Given the description of an element on the screen output the (x, y) to click on. 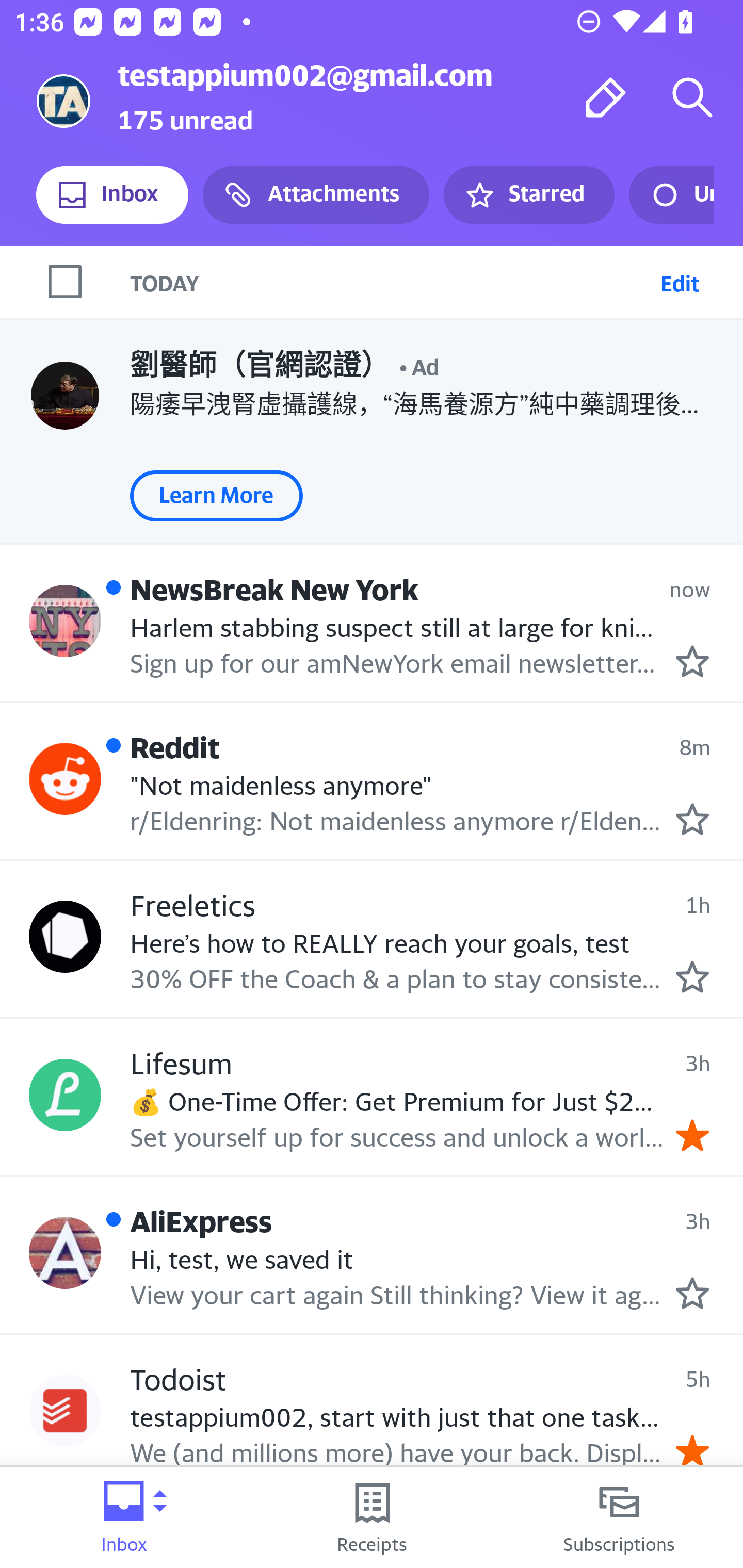
Compose (605, 97)
Search mail (692, 97)
Attachments (315, 195)
Starred (528, 195)
TODAY (391, 281)
Edit Select emails (679, 281)
Profile
NewsBreak New York (64, 620)
Mark as starred. (692, 660)
Profile
Reddit (64, 779)
Mark as starred. (692, 819)
Profile
Freeletics (64, 936)
Mark as starred. (692, 977)
Profile
Lifesum (64, 1094)
Remove star. (692, 1135)
Profile
AliExpress (64, 1252)
Mark as starred. (692, 1292)
Profile
Todoist (64, 1411)
Remove star. (692, 1451)
Inbox Folder picker (123, 1517)
Receipts (371, 1517)
Subscriptions (619, 1517)
